Given the description of an element on the screen output the (x, y) to click on. 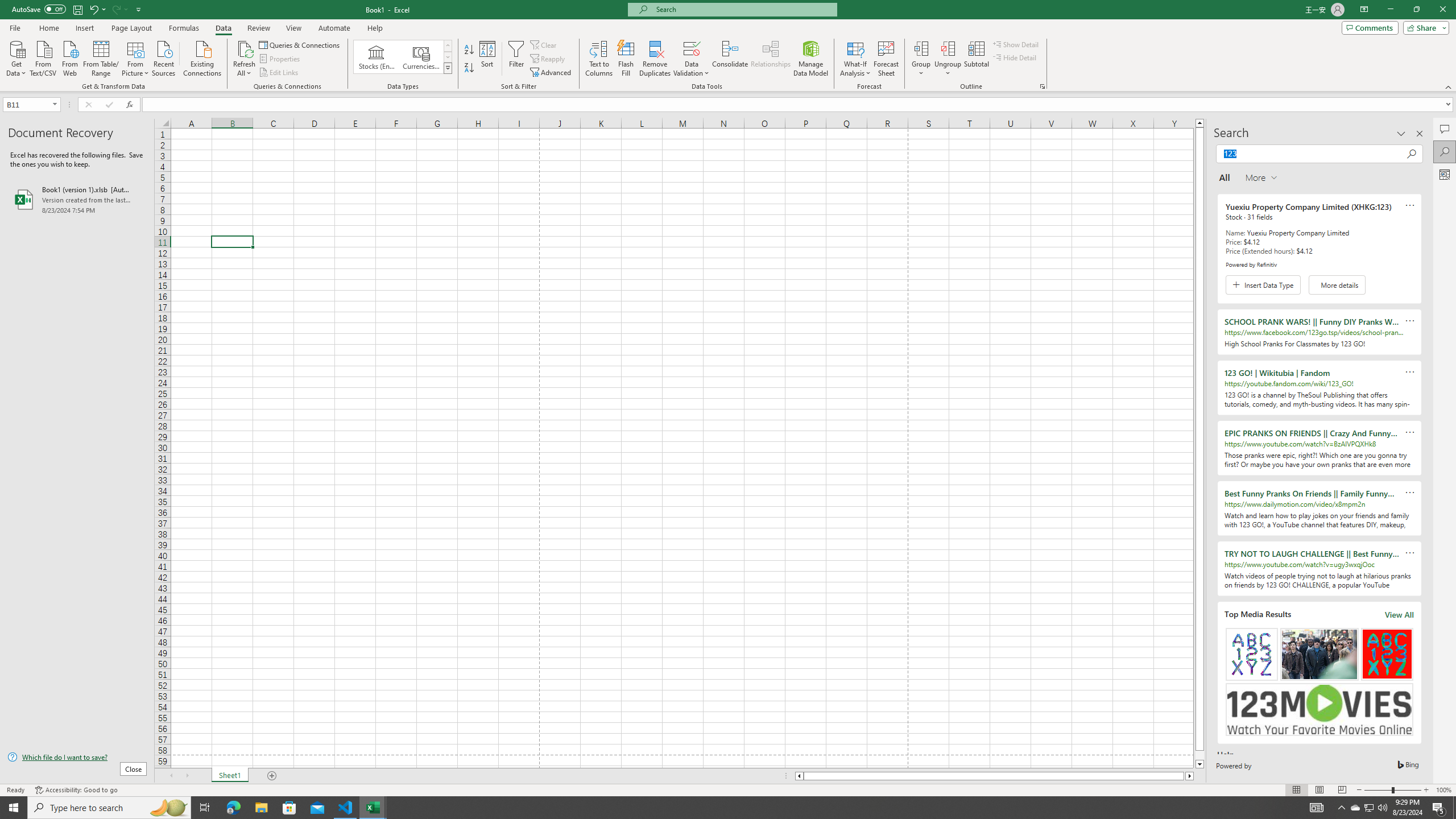
Edit Links (279, 72)
From Text/CSV (43, 57)
Stocks (English) (375, 56)
Text to Columns... (598, 58)
Refresh All (244, 58)
Ungroup... (947, 48)
Which file do I want to save? (77, 757)
What-If Analysis (855, 58)
More Options (947, 68)
Class: MsoCommandBar (728, 45)
Customize Quick Access Toolbar (139, 9)
Manage Data Model (810, 58)
Close pane (1419, 133)
Consolidate... (729, 58)
